Given the description of an element on the screen output the (x, y) to click on. 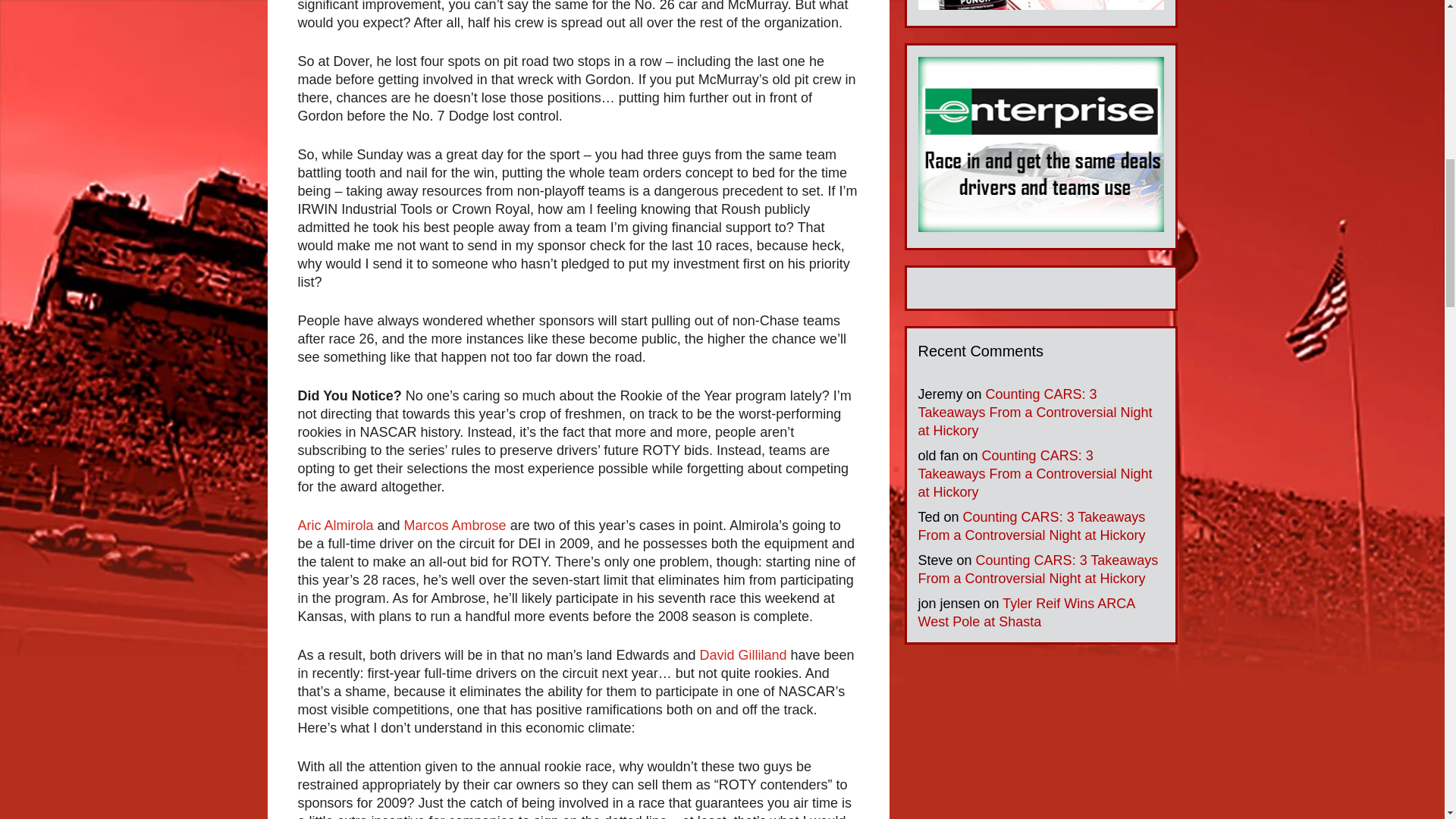
Marcos Ambrose (455, 525)
Aric Almirola (334, 525)
David Gilliland (742, 654)
